Given the description of an element on the screen output the (x, y) to click on. 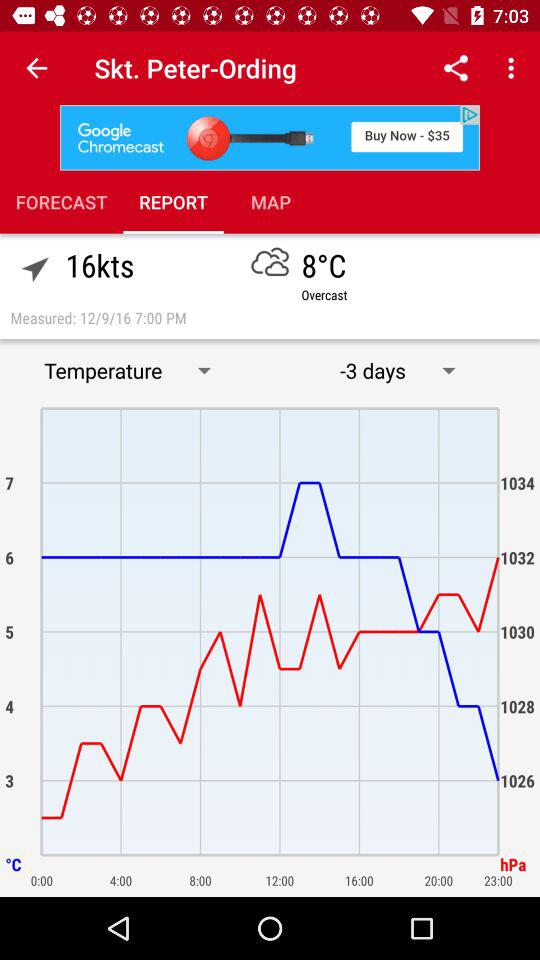
give advertisement information (270, 137)
